Given the description of an element on the screen output the (x, y) to click on. 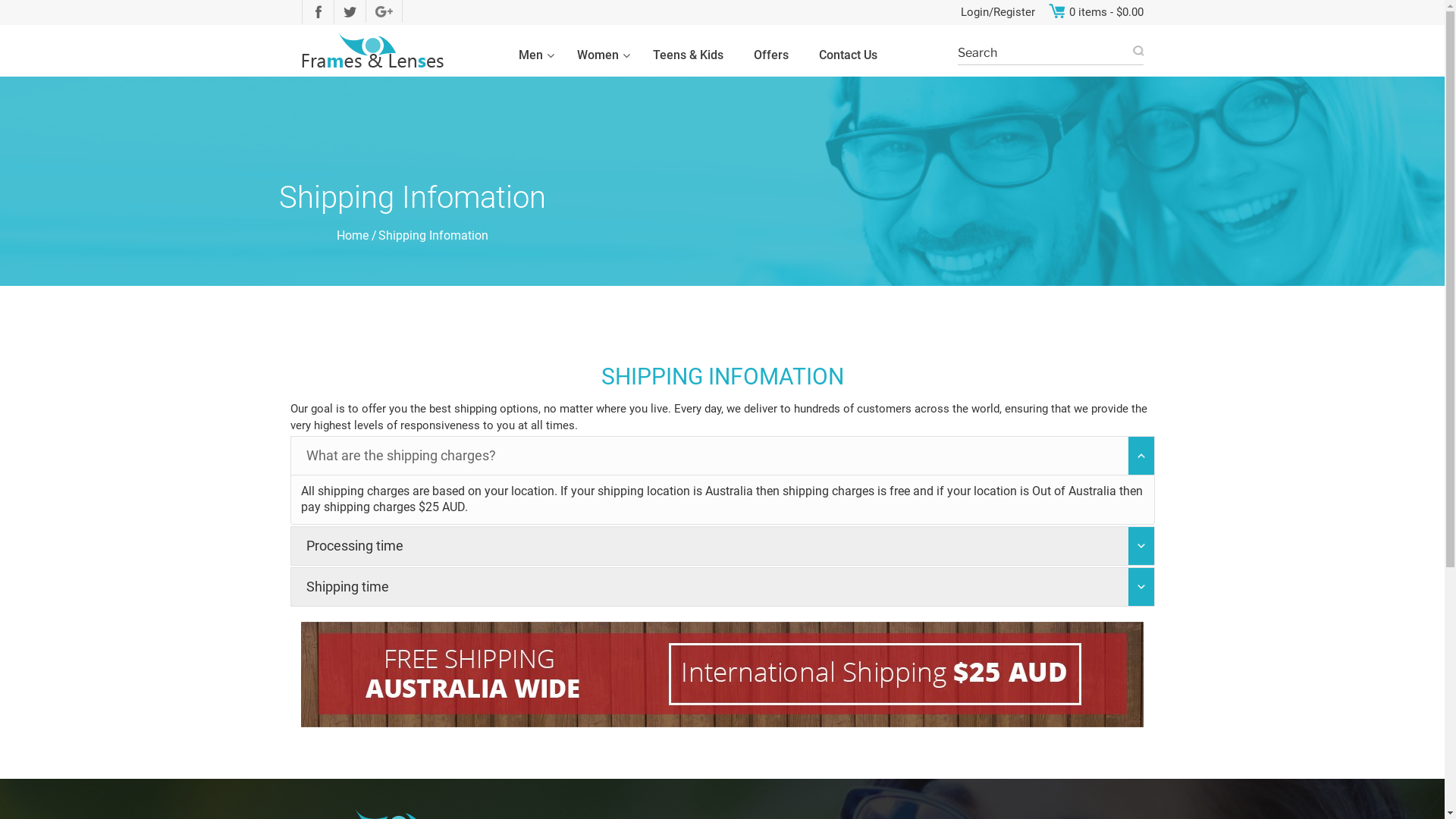
Home Element type: text (352, 235)
Login/Register Element type: text (997, 12)
0 items - $0.00 Element type: text (1106, 12)
Men Element type: text (532, 55)
Women Element type: text (599, 55)
Teens & Kids Element type: text (687, 55)
Contact Us Element type: text (847, 55)
